Given the description of an element on the screen output the (x, y) to click on. 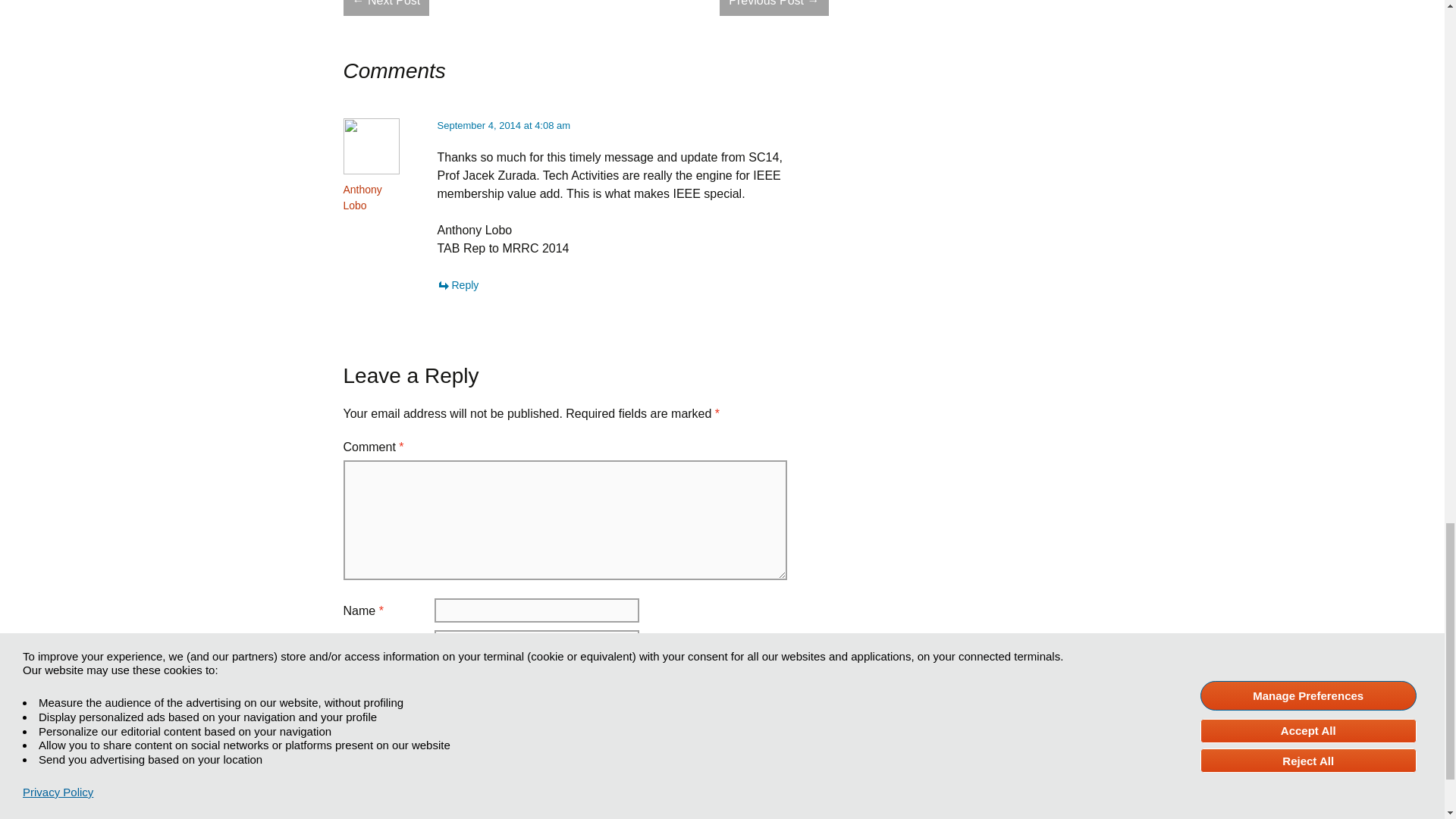
Post Comment (390, 742)
yes (347, 701)
